Given the description of an element on the screen output the (x, y) to click on. 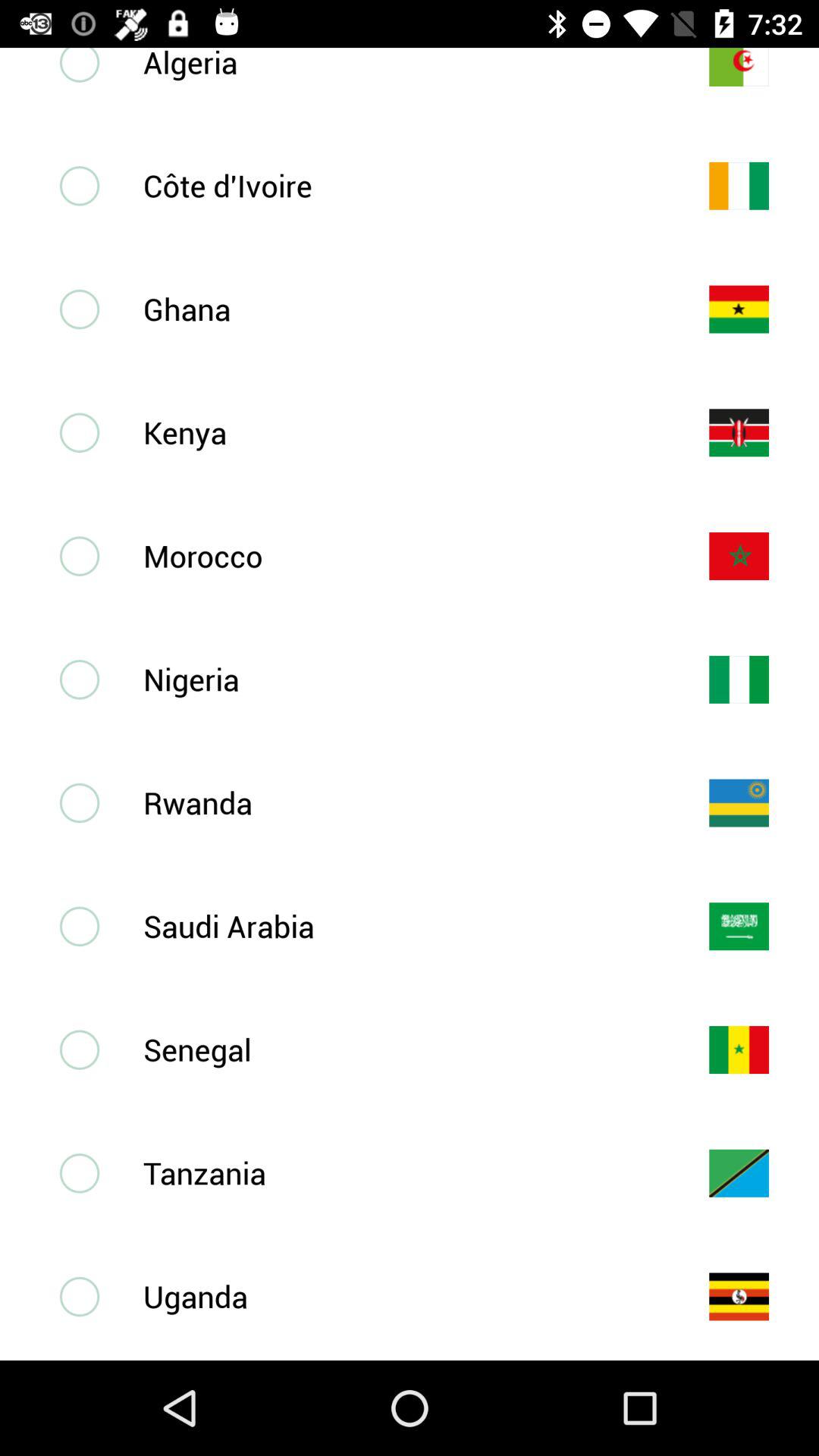
scroll to the tanzania icon (401, 1172)
